Given the description of an element on the screen output the (x, y) to click on. 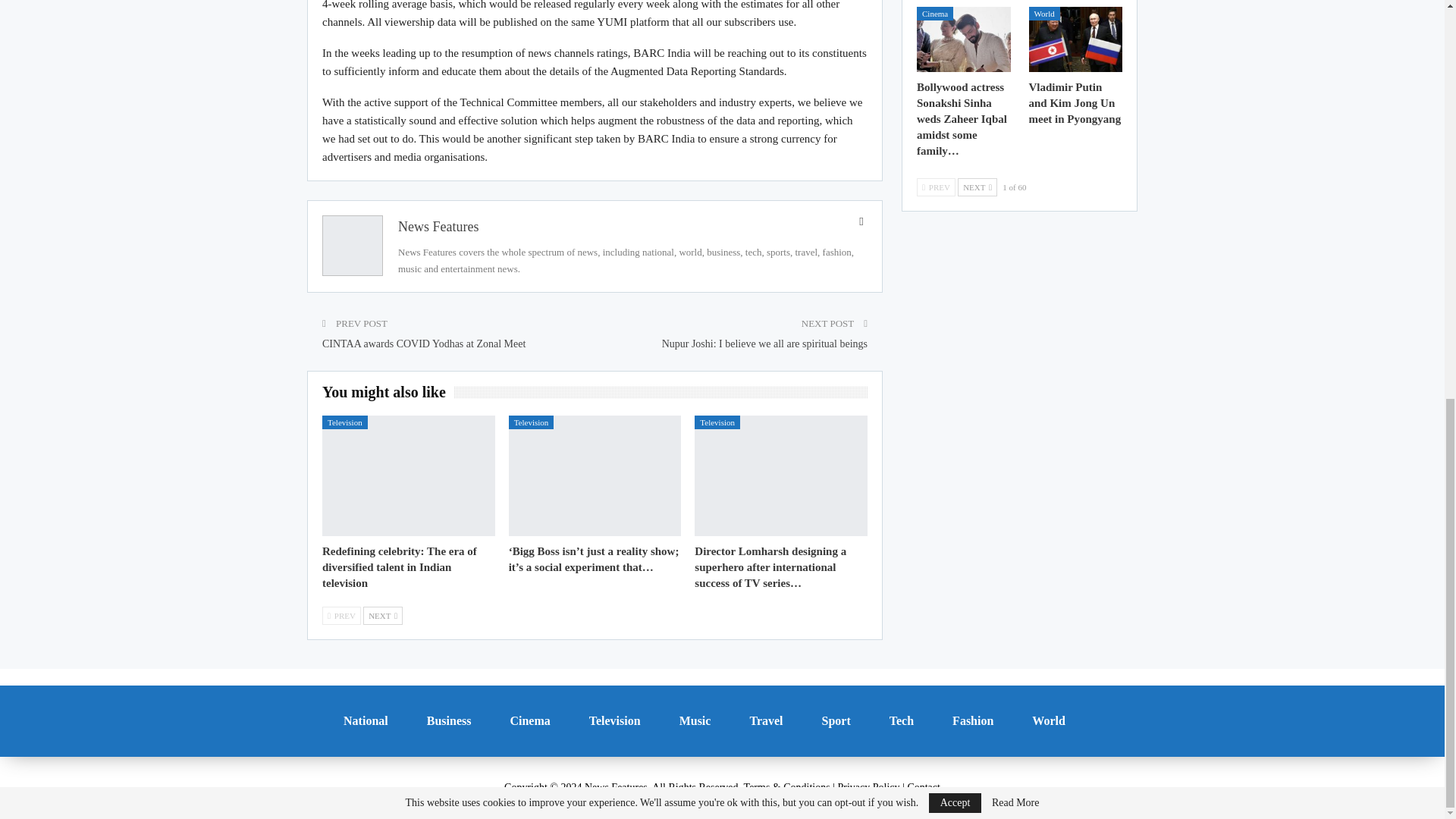
Nupur Joshi: I believe we all are spiritual beings (764, 343)
Next (382, 615)
News Features (438, 226)
CINTAA awards COVID Yodhas at Zonal Meet (423, 343)
Television (344, 422)
Previous (341, 615)
